Given the description of an element on the screen output the (x, y) to click on. 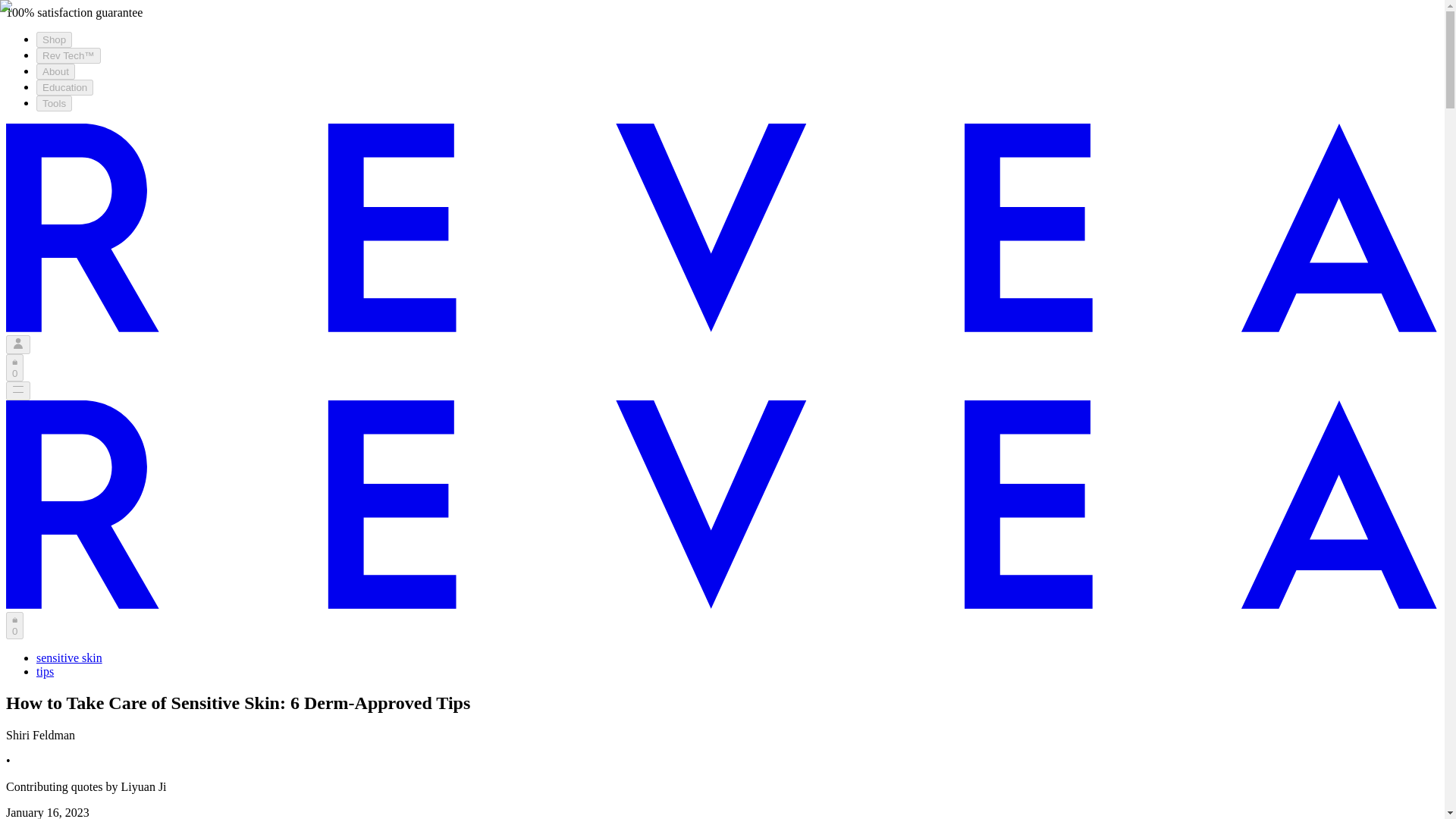
Shop (53, 39)
Education (64, 87)
Tools (53, 103)
tips (44, 670)
About (55, 71)
sensitive skin (68, 656)
